Given the description of an element on the screen output the (x, y) to click on. 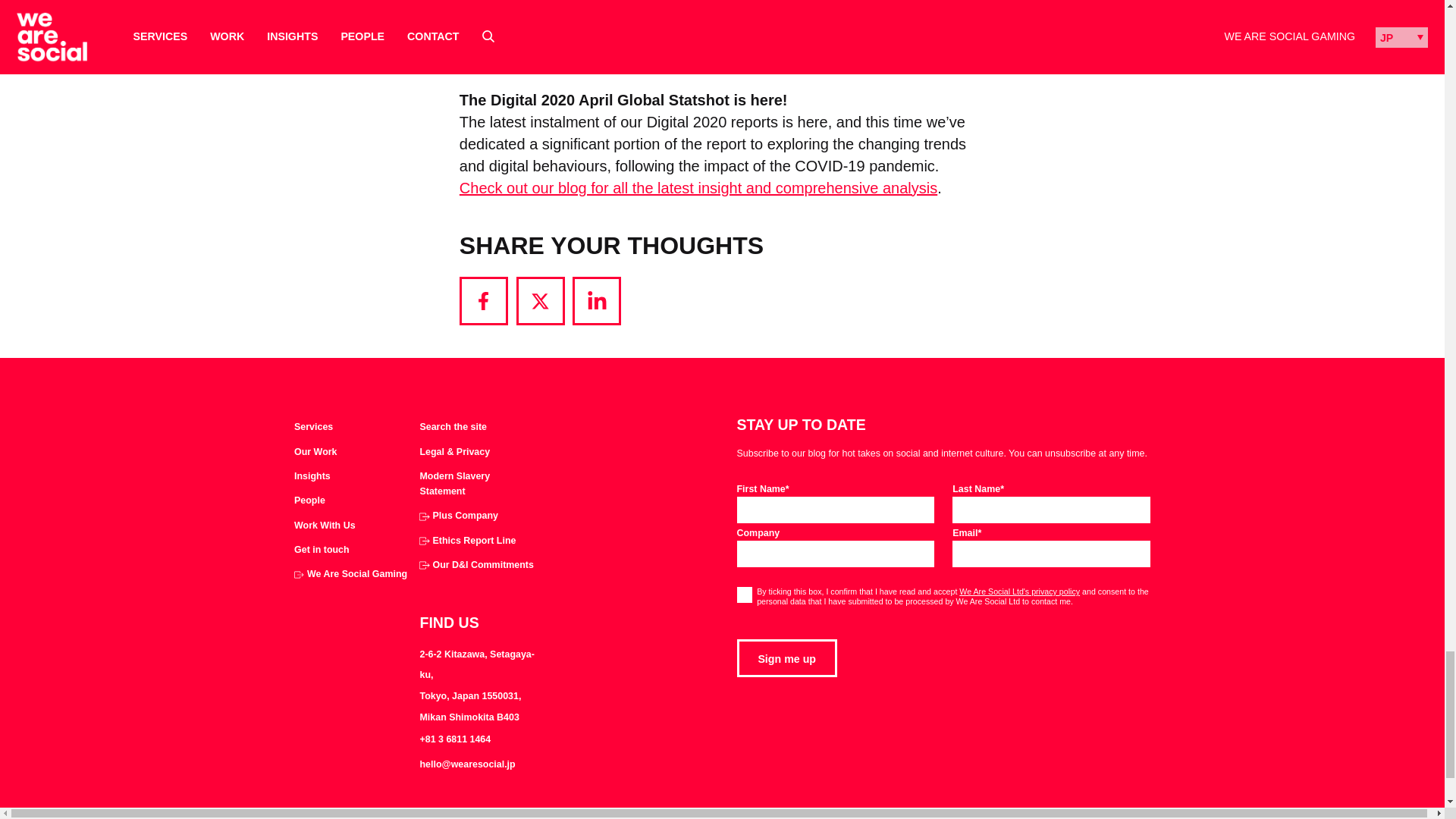
Get in touch (321, 549)
Services (313, 427)
Work (315, 452)
Share via Facebook (484, 300)
People (309, 500)
Share via LinkedIn (596, 300)
Legal (454, 452)
Our Work (315, 452)
Get in Touch (321, 549)
Share via Twitter (540, 300)
We Are Social Gaming (350, 574)
Modern Slavery Statement (477, 484)
Services (313, 427)
